Given the description of an element on the screen output the (x, y) to click on. 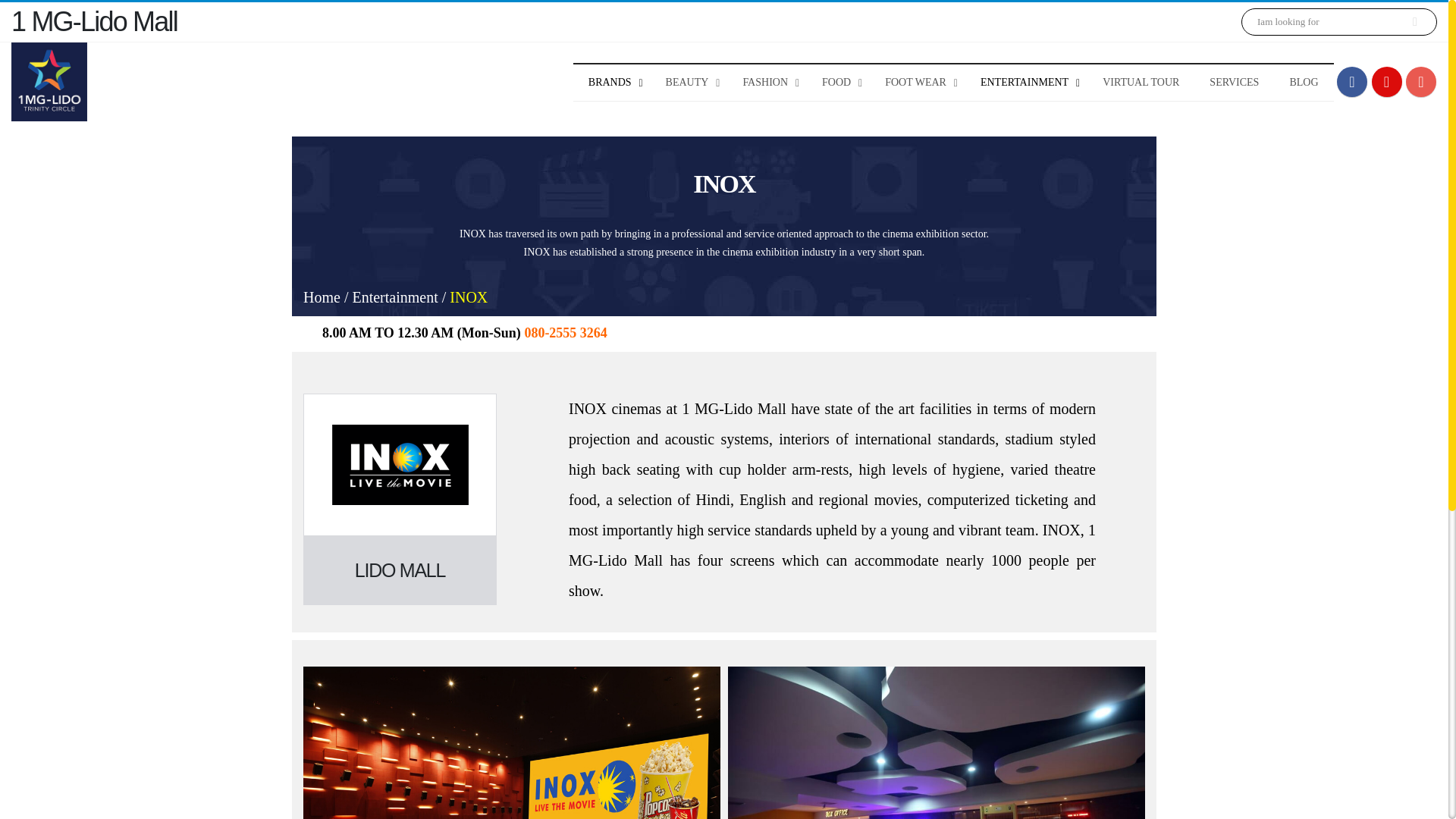
inox2 (936, 742)
Instagram (1420, 81)
Search (1414, 22)
BRANDS (611, 82)
Facebook (1351, 81)
inox-logo (399, 465)
inox1 (511, 742)
Youtube (1385, 81)
 -  (49, 81)
